Given the description of an element on the screen output the (x, y) to click on. 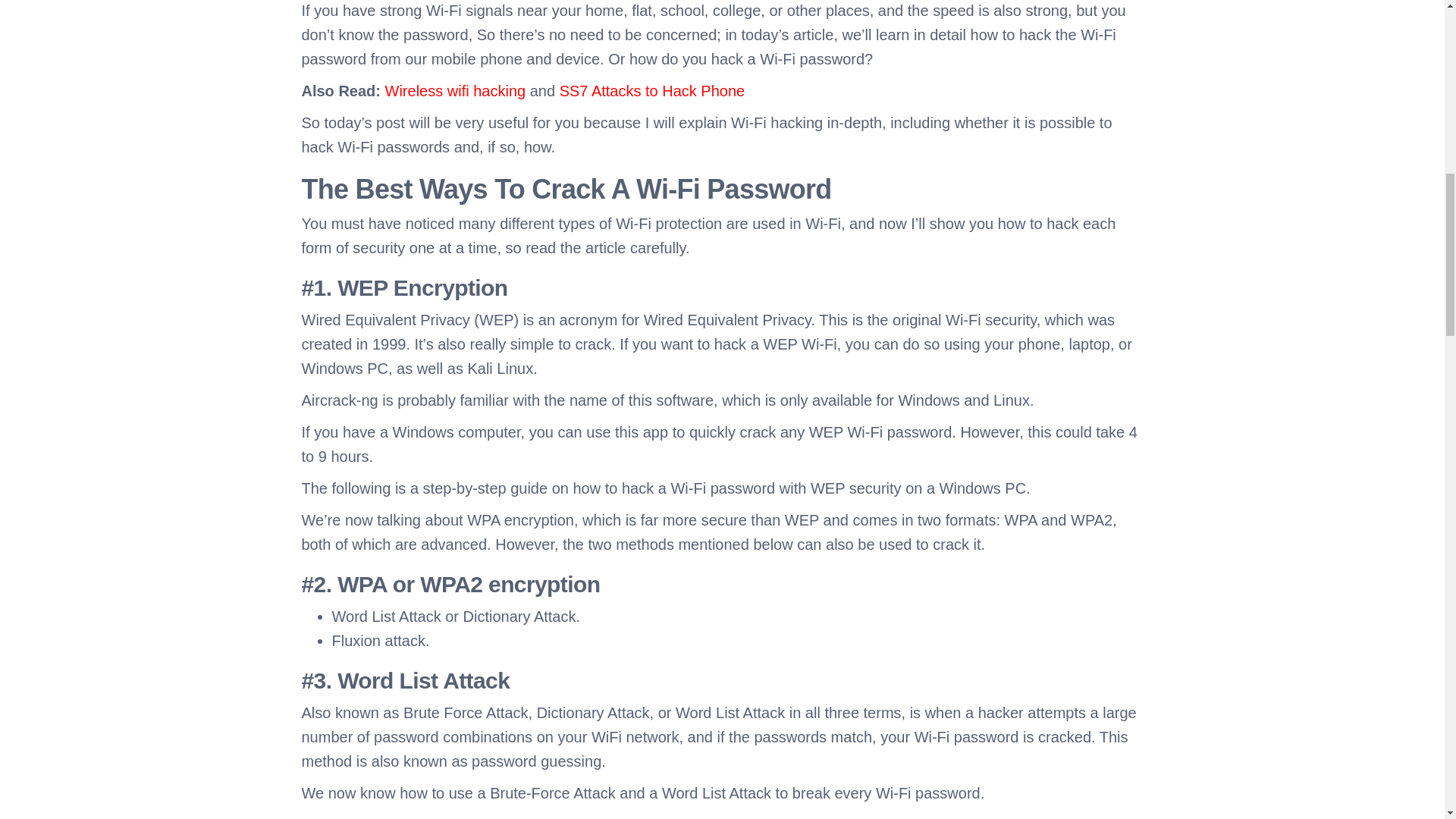
SS7 Attacks to Hack Phone (652, 90)
Wireless wifi hacking (455, 90)
